Given the description of an element on the screen output the (x, y) to click on. 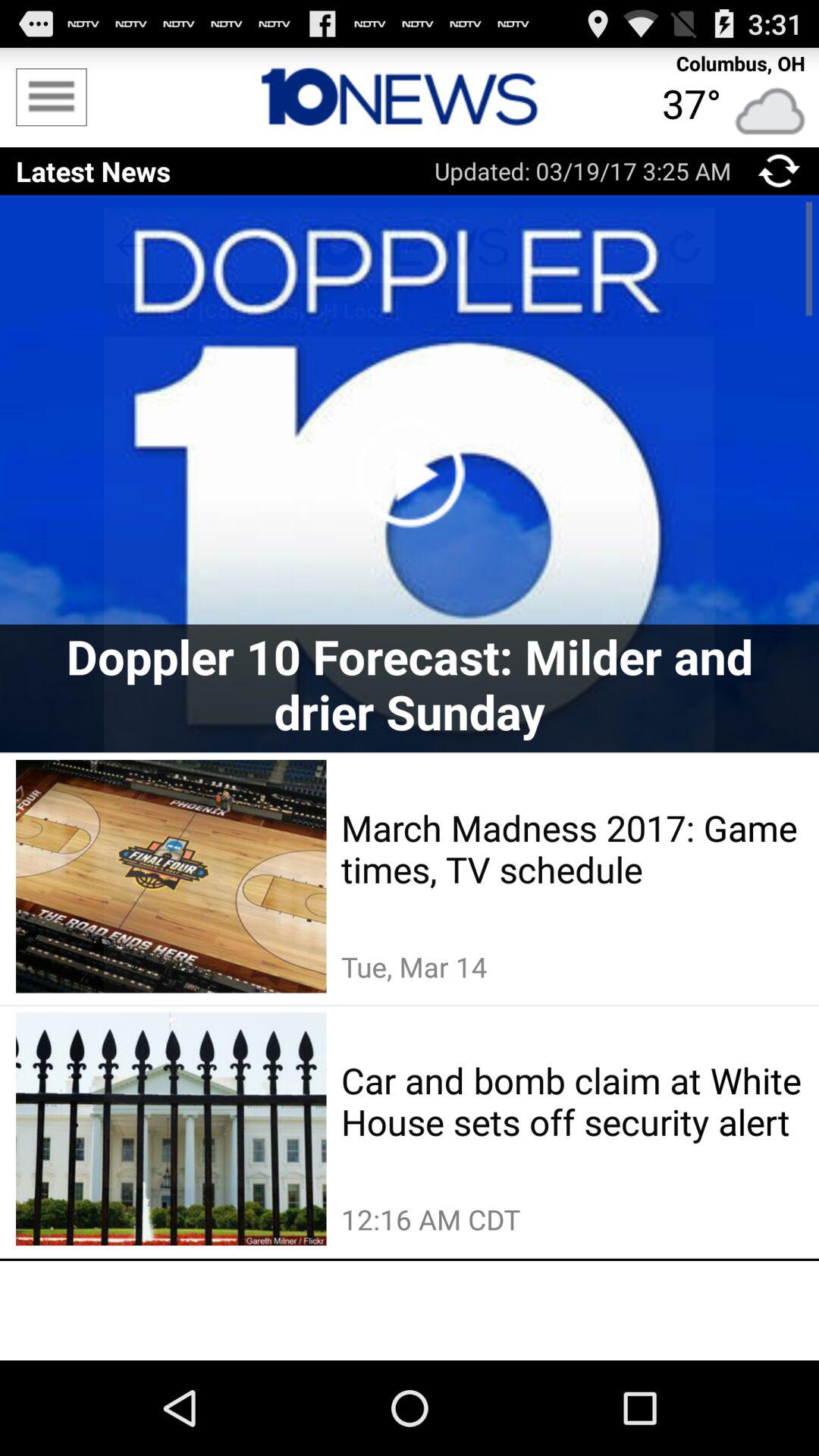
scroll until 12 16 am (572, 1219)
